Given the description of an element on the screen output the (x, y) to click on. 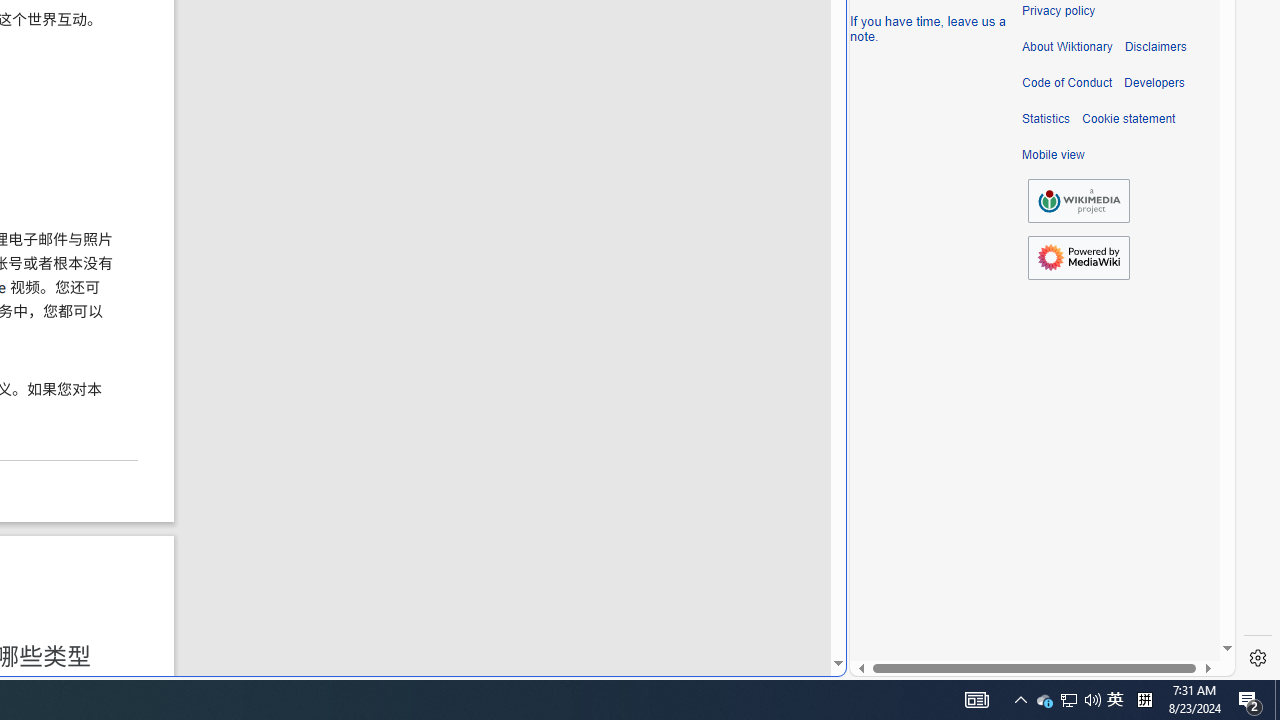
AutomationID: footer-copyrightico (1078, 200)
Disclaimers (1154, 47)
google_privacy_policy_zh-CN.pdf (687, 482)
Mobile view (1053, 155)
